Given the description of an element on the screen output the (x, y) to click on. 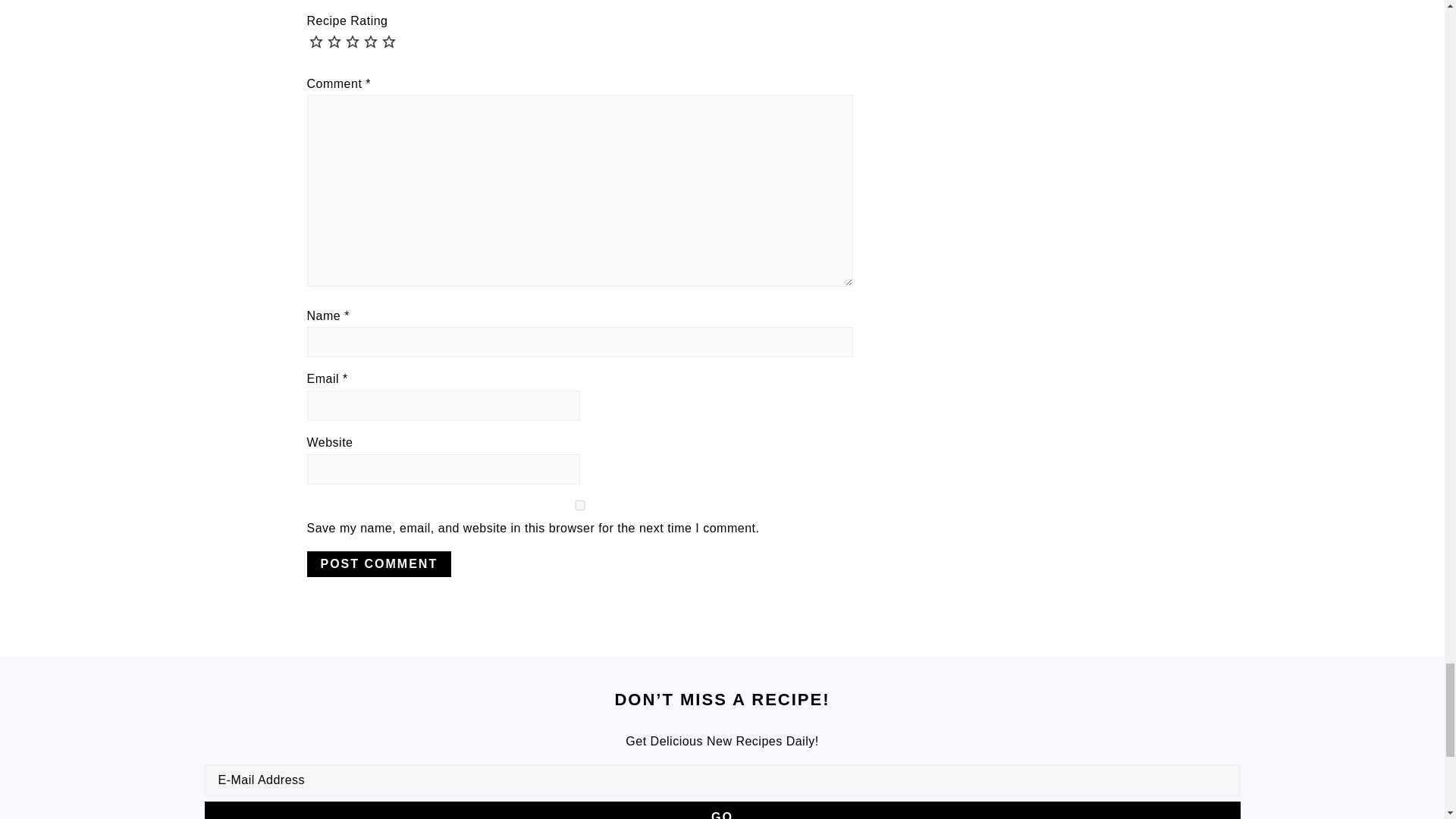
Go (722, 810)
Go (722, 810)
yes (578, 505)
Post Comment (378, 564)
Post Comment (378, 564)
